Given the description of an element on the screen output the (x, y) to click on. 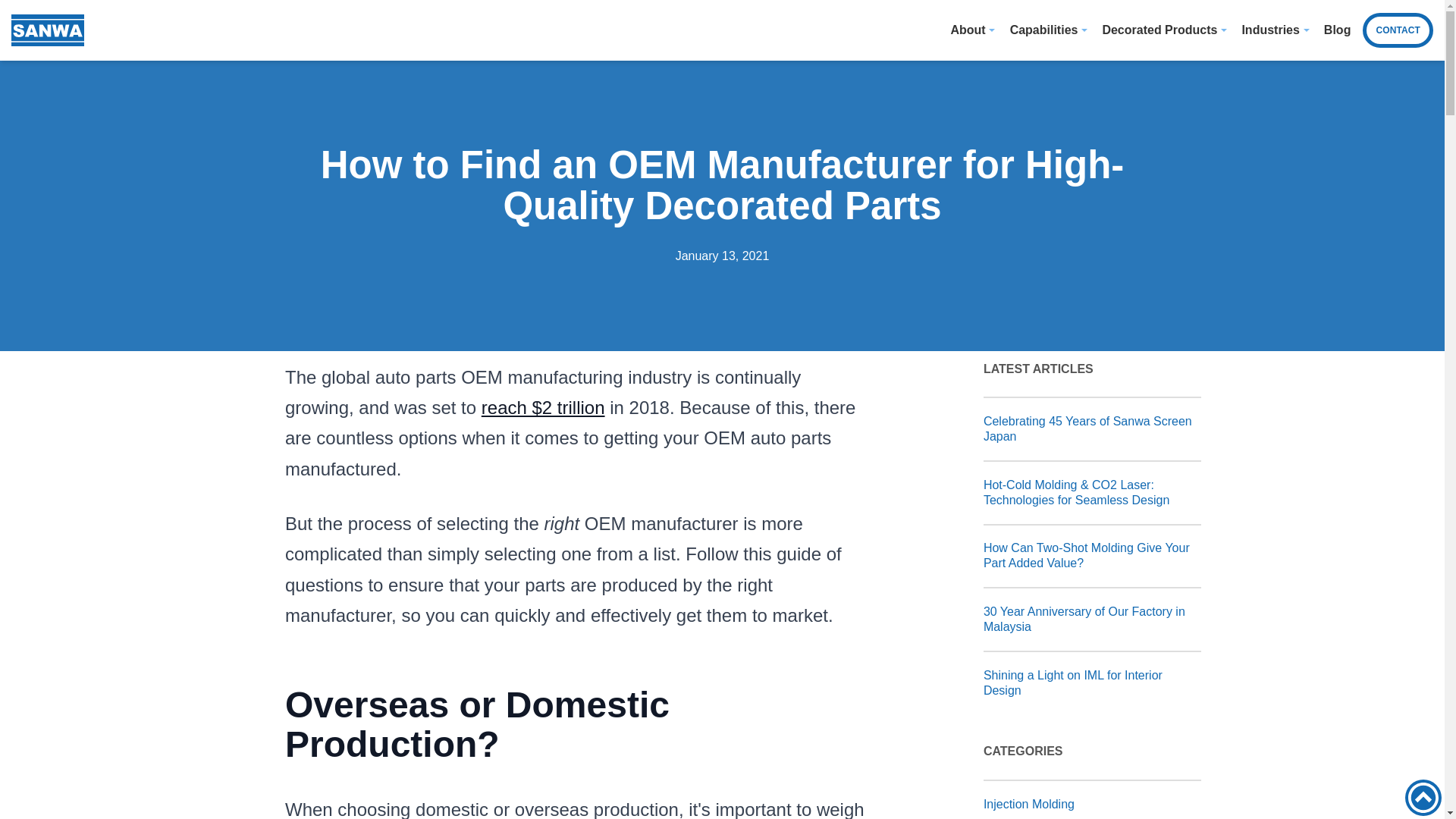
About (967, 30)
Back to Top (1423, 797)
Sanwa Screen USA (47, 30)
